Given the description of an element on the screen output the (x, y) to click on. 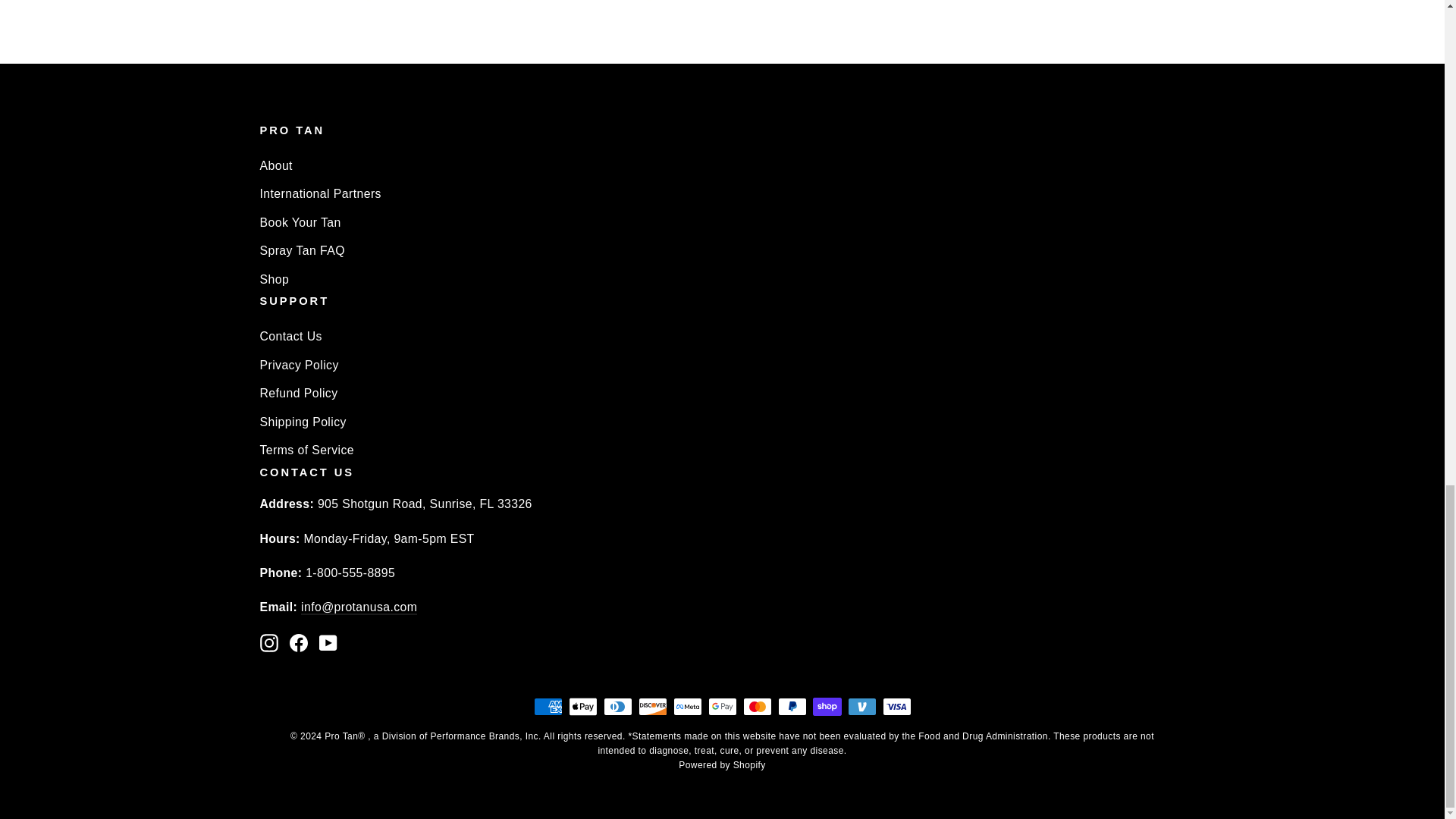
American Express (548, 706)
PayPal (791, 706)
Meta Pay (686, 706)
Venmo (861, 706)
Mastercard (756, 706)
Google Pay (721, 706)
Shop Pay (826, 706)
instagram (268, 642)
Discover (652, 706)
Apple Pay (582, 706)
Diners Club (617, 706)
